Given the description of an element on the screen output the (x, y) to click on. 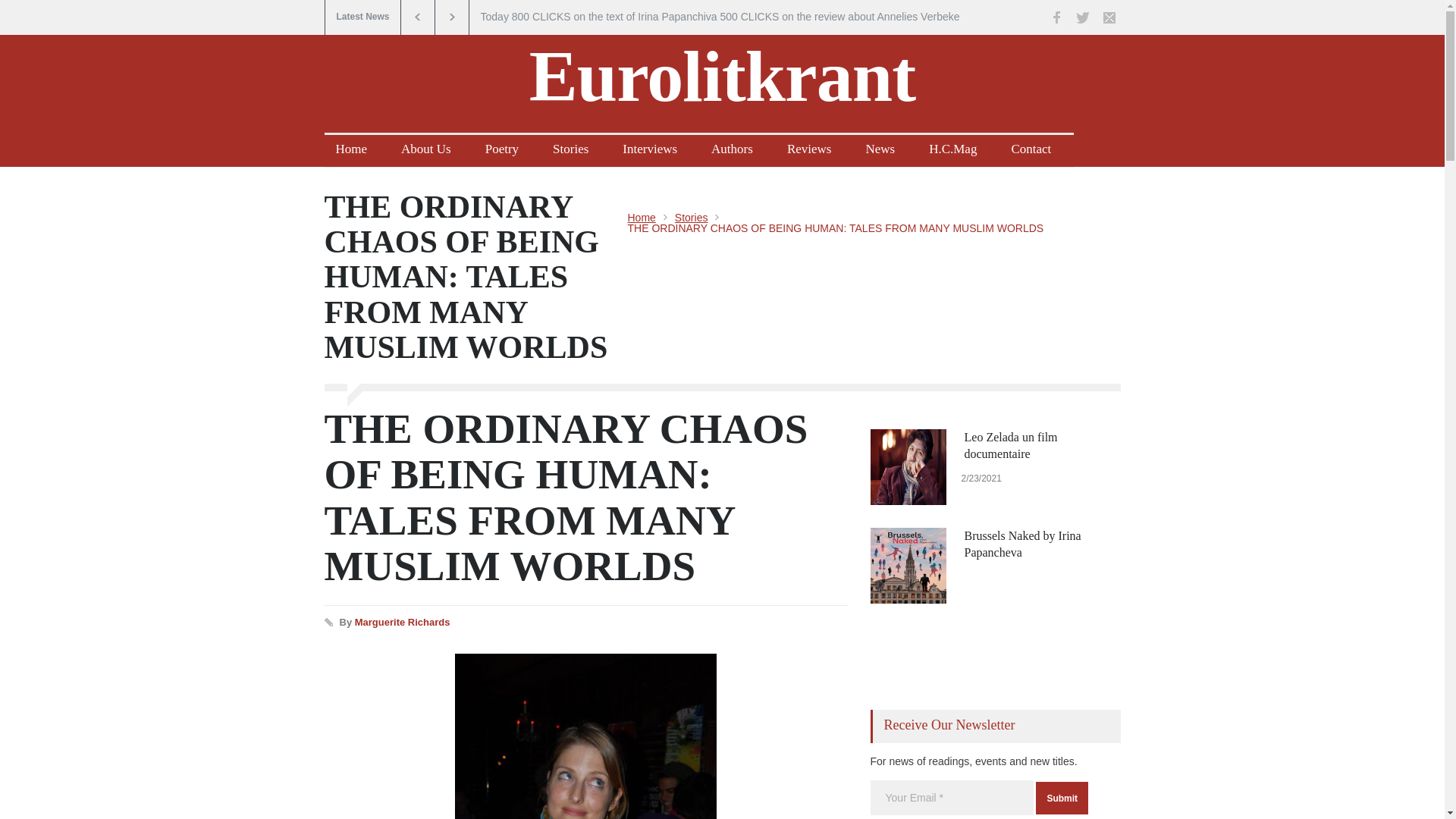
About Us (432, 151)
Home (641, 217)
facebook (1056, 16)
Poetry (507, 151)
Eurolitkrant (722, 76)
Stories (691, 217)
Reviews (815, 151)
